Given the description of an element on the screen output the (x, y) to click on. 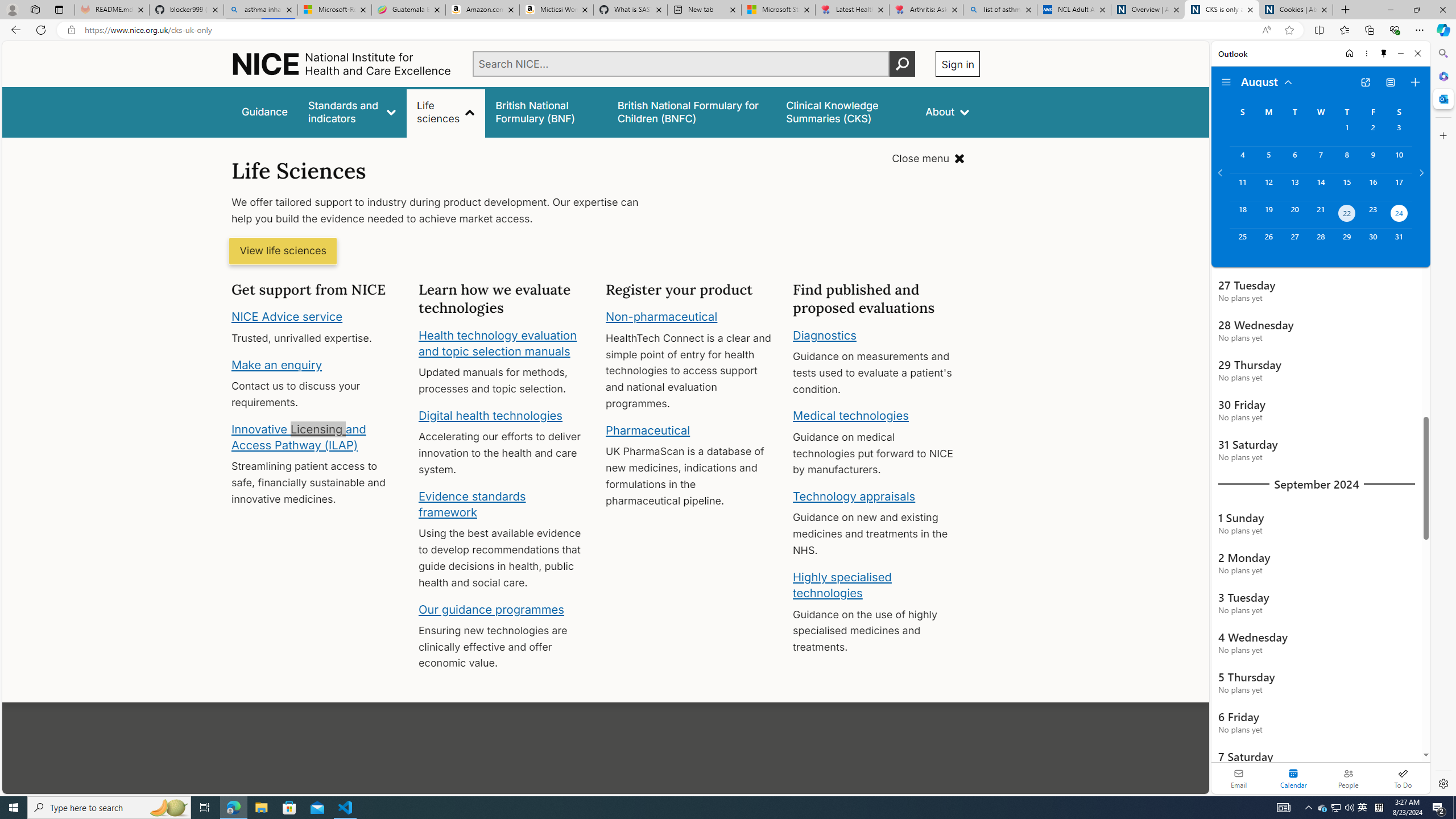
View Switcher. Current view is Agenda view (1390, 82)
Selected calendar module. Date today is 22 (1293, 777)
British National Formulary for Children (BNFC) (691, 111)
NICE Advice service (287, 316)
asthma inhaler - Search (260, 9)
Diagnostics (824, 334)
Close menu (927, 159)
Friday, August 9, 2024.  (1372, 159)
Tuesday, August 27, 2024.  (1294, 241)
